Given the description of an element on the screen output the (x, y) to click on. 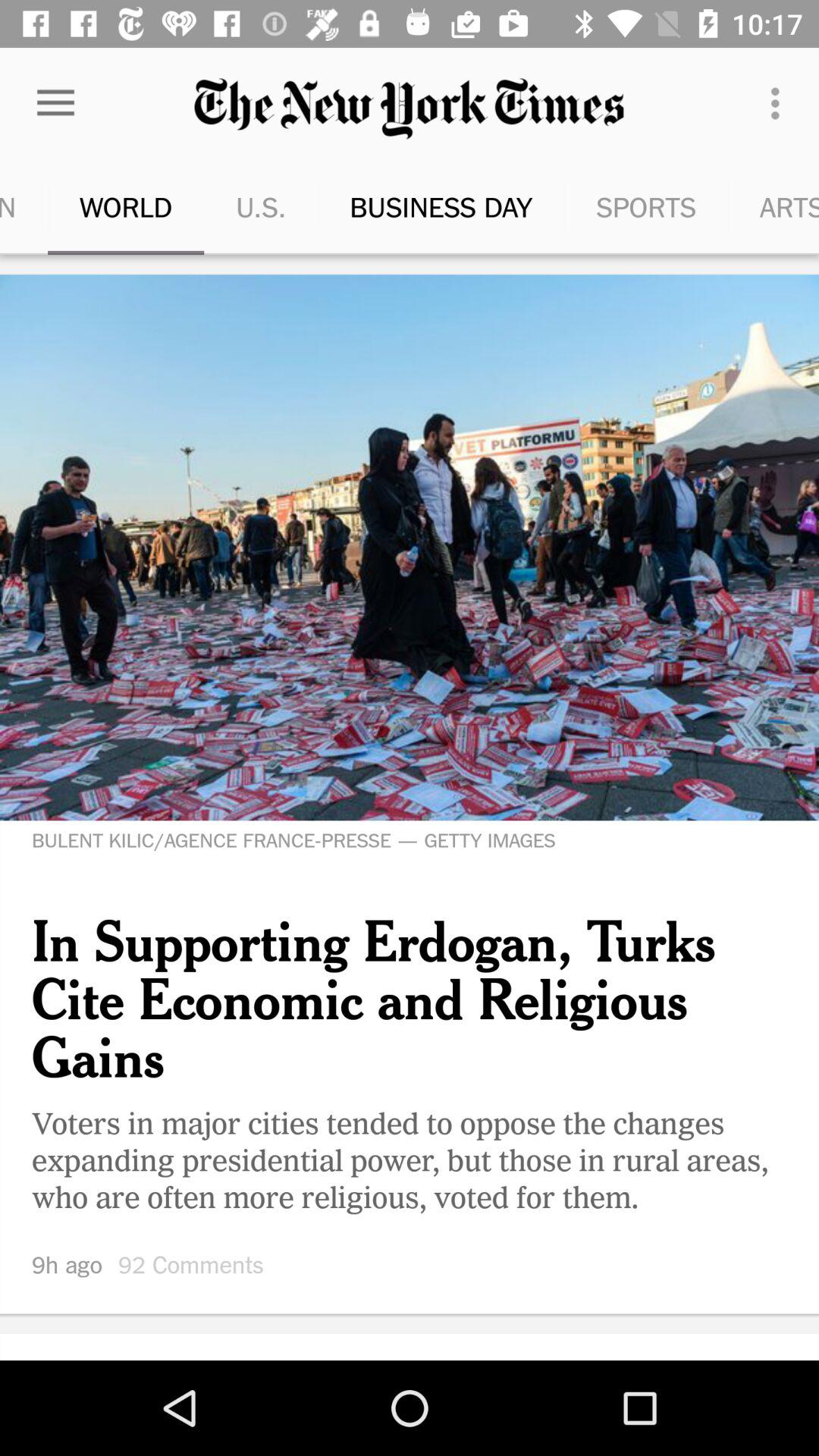
jump to new york item (818, 206)
